Given the description of an element on the screen output the (x, y) to click on. 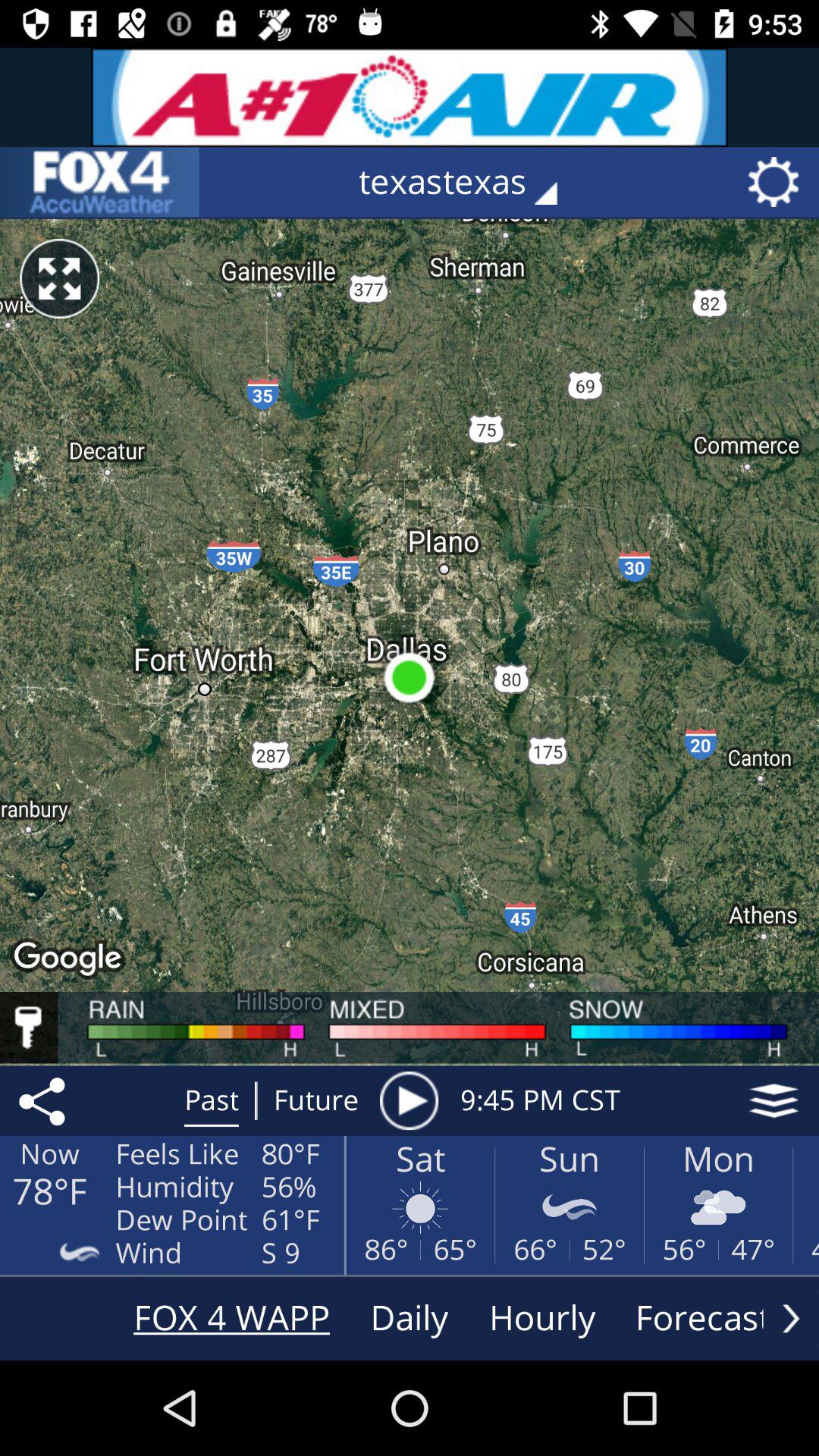
visit the app-maker 's website (99, 182)
